Given the description of an element on the screen output the (x, y) to click on. 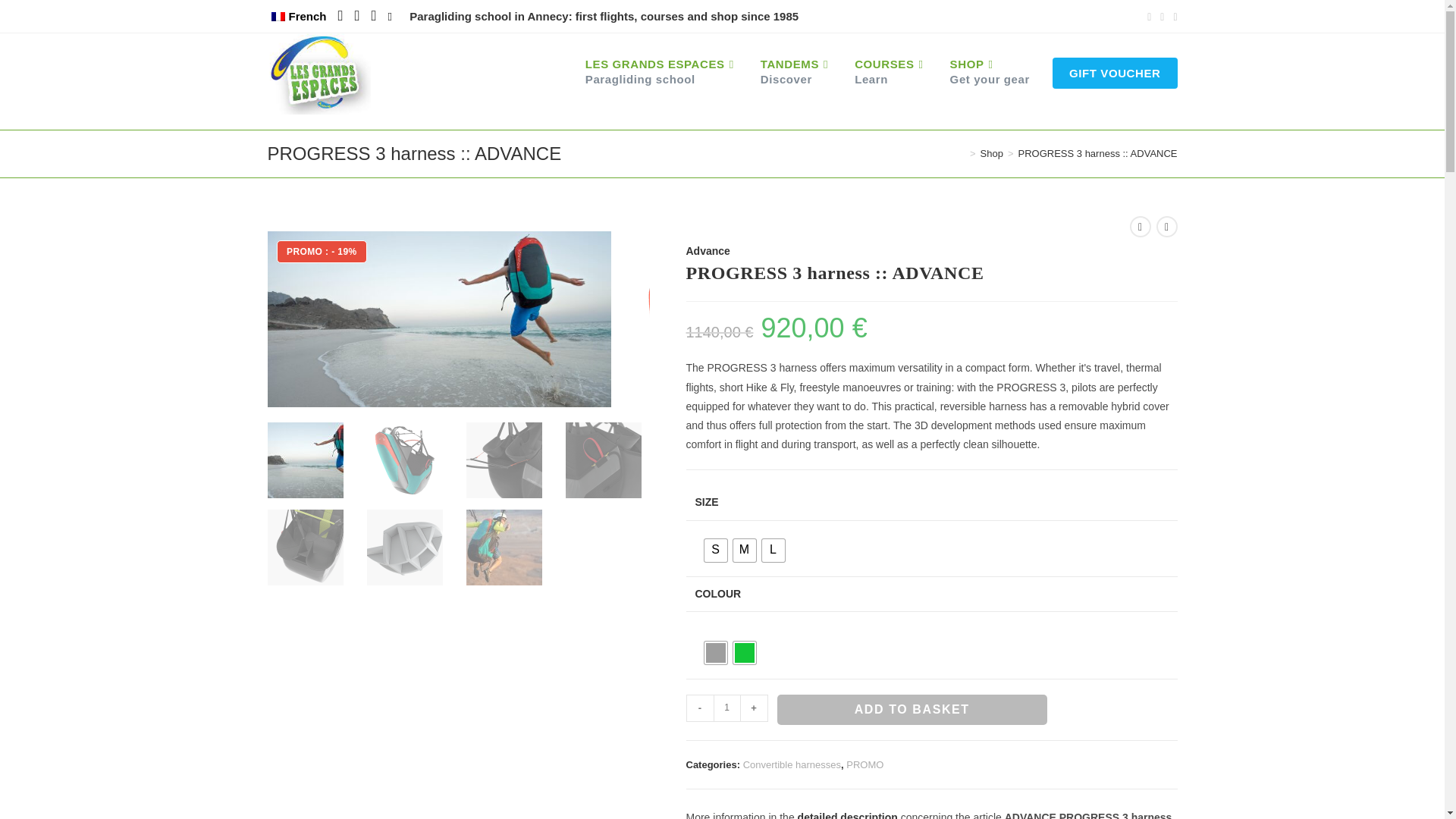
Webcam planfait (356, 15)
Les Grands Espaces Annecy (890, 71)
French (661, 71)
customer center (990, 71)
Search (796, 71)
GIFT VOUCHER (277, 16)
04 50 60 79 06 (340, 15)
1 (389, 16)
First paragliding flight Annecy (1115, 73)
French (373, 15)
